Given the description of an element on the screen output the (x, y) to click on. 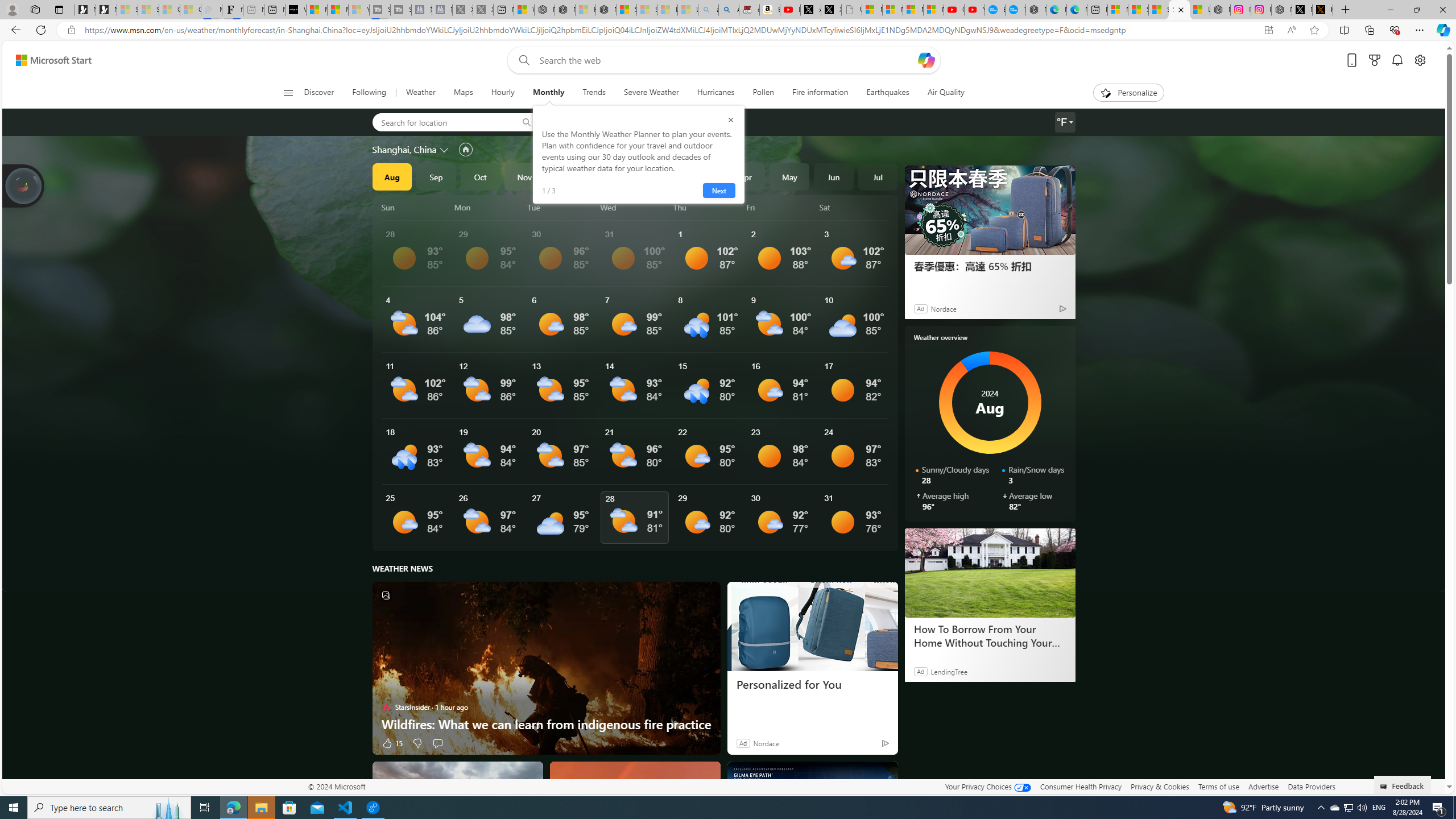
Jun (833, 176)
2025 Jan (612, 176)
15 Like (392, 742)
Terms of use (1218, 785)
Shanghai, China (403, 149)
